Given the description of an element on the screen output the (x, y) to click on. 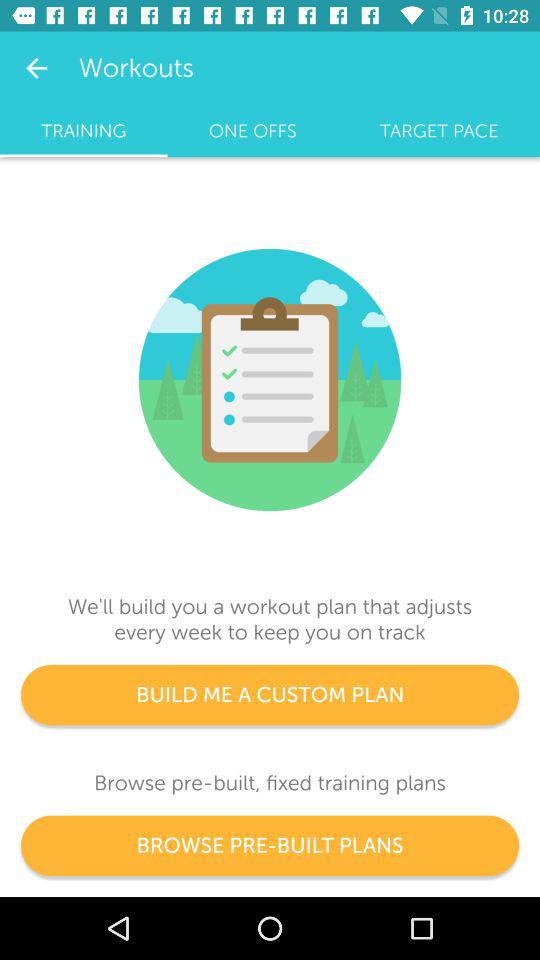
choose item to the right of one offs icon (439, 131)
